Given the description of an element on the screen output the (x, y) to click on. 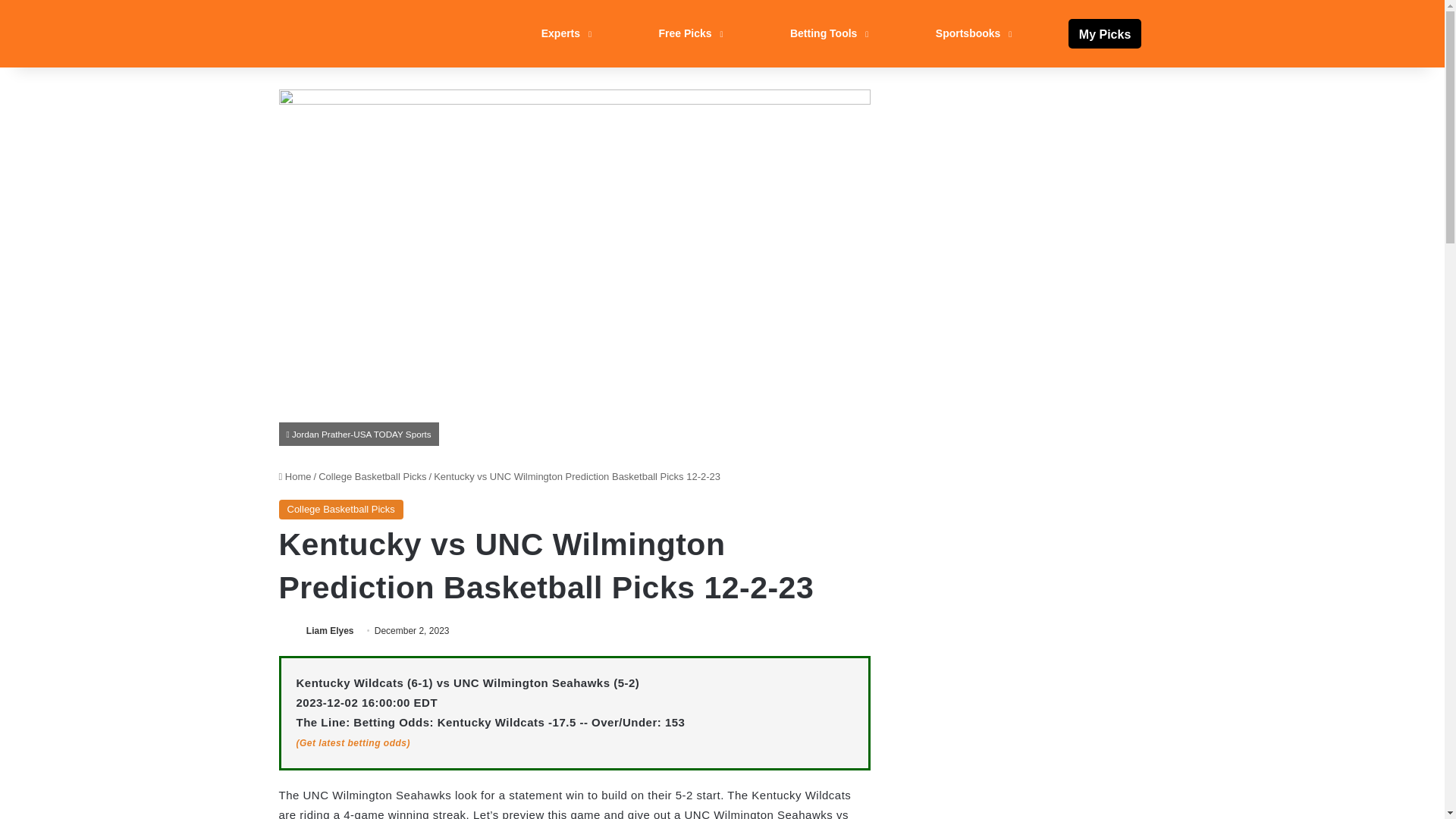
Liam Elyes (329, 630)
Experts (564, 33)
Betting Tools (827, 33)
Free Picks (688, 33)
